Given the description of an element on the screen output the (x, y) to click on. 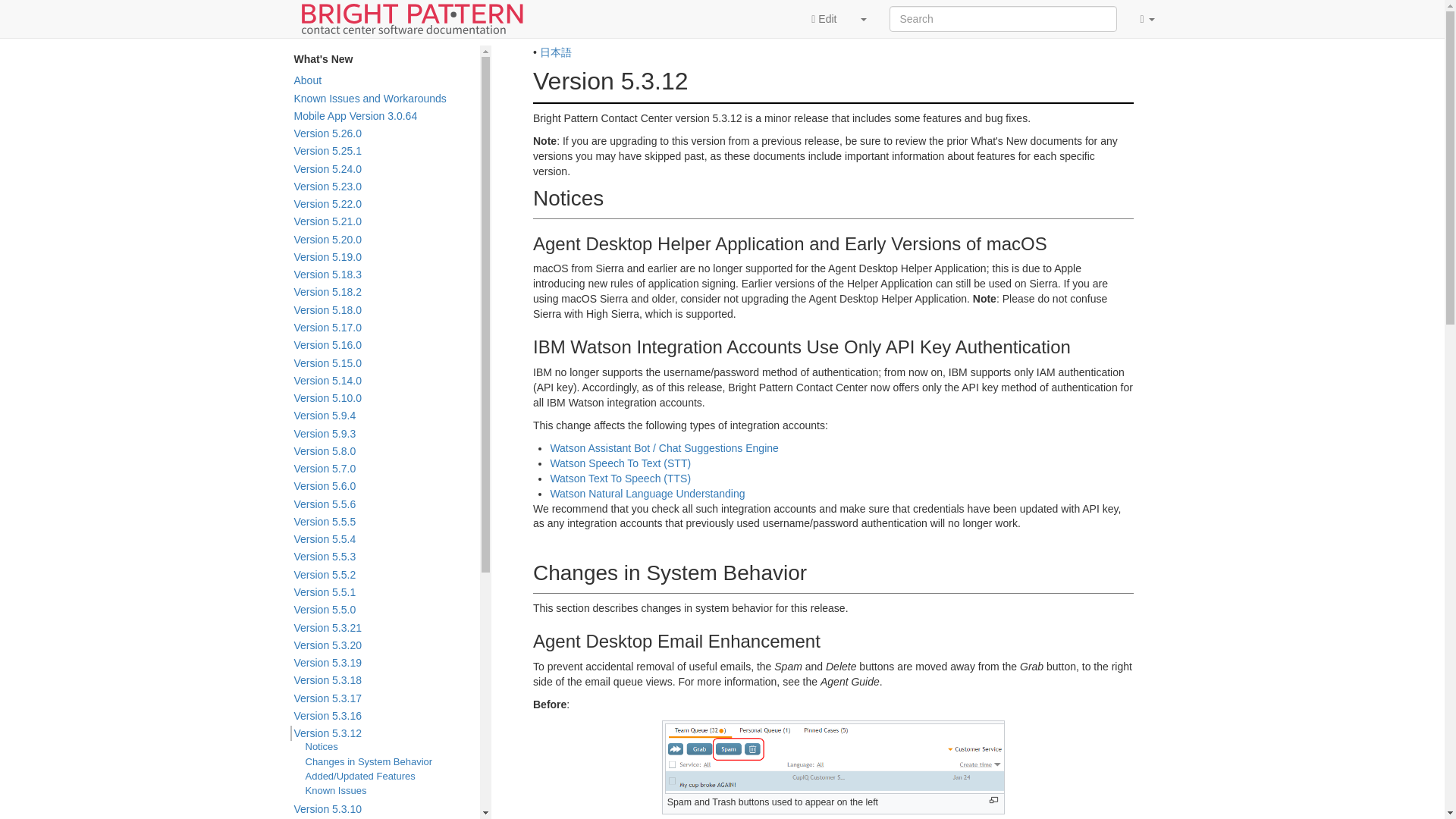
Enlarge (993, 800)
Edit (823, 18)
Watson Natural Language Understanding (647, 493)
